Given the description of an element on the screen output the (x, y) to click on. 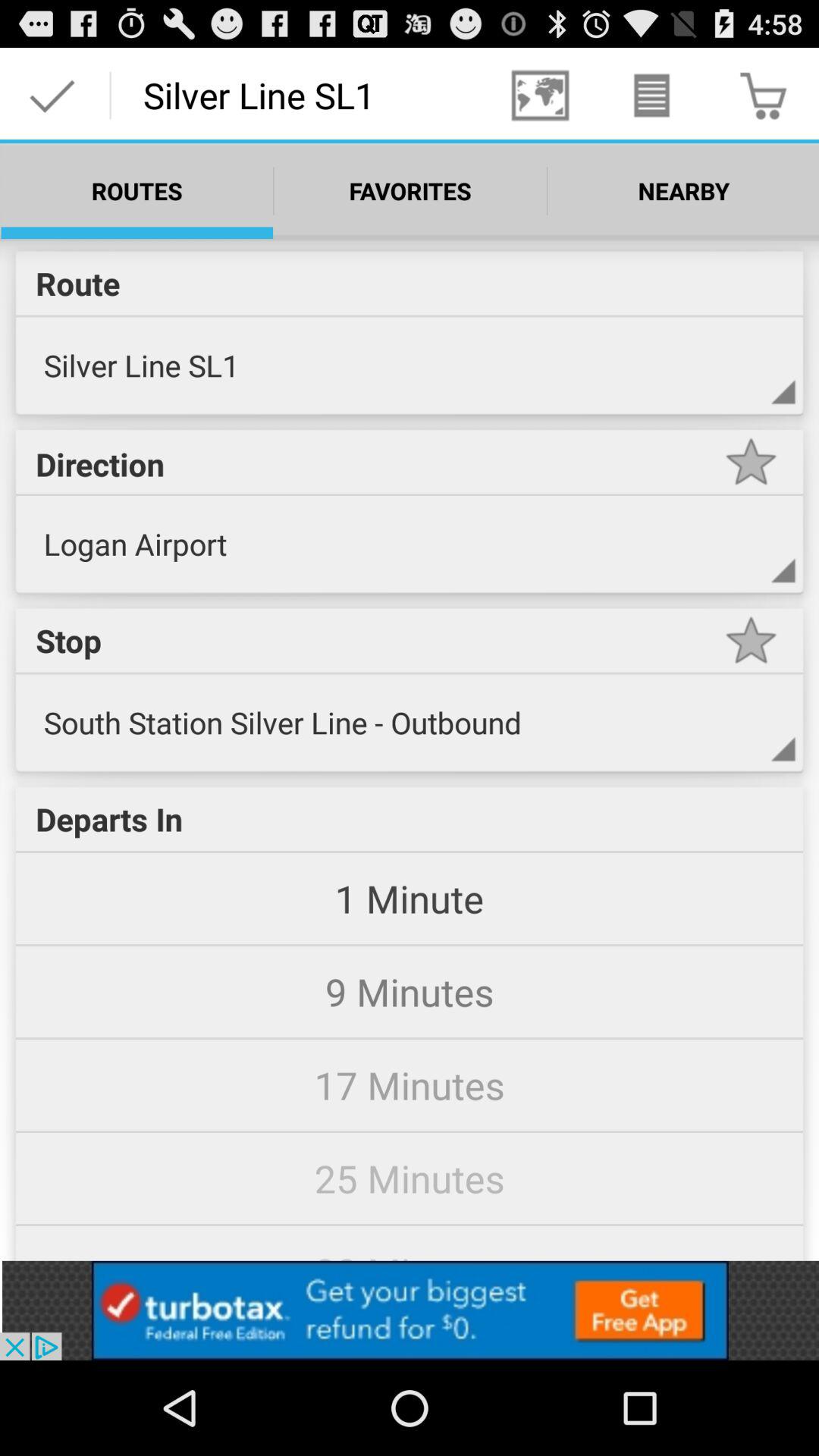
direction list (751, 565)
